Given the description of an element on the screen output the (x, y) to click on. 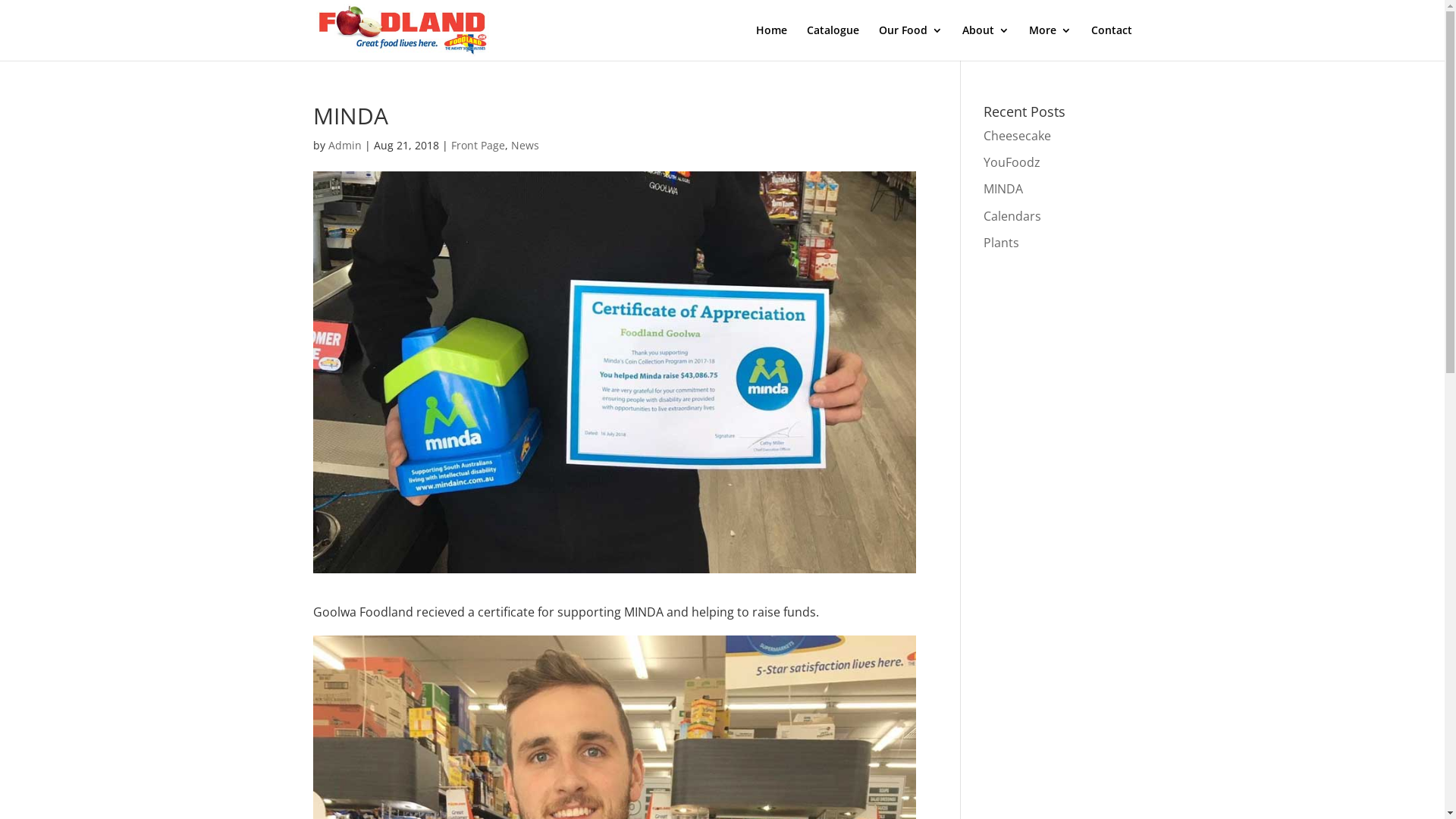
Catalogue Element type: text (832, 42)
About Element type: text (984, 42)
Admin Element type: text (343, 145)
Cheesecake Element type: text (1017, 135)
More Element type: text (1049, 42)
Home Element type: text (770, 42)
Our Food Element type: text (909, 42)
MINDA Element type: text (1002, 188)
Calendars Element type: text (1012, 215)
Contact Element type: text (1110, 42)
YouFoodz Element type: text (1011, 161)
News Element type: text (525, 145)
Plants Element type: text (1001, 242)
Front Page Element type: text (477, 145)
